Given the description of an element on the screen output the (x, y) to click on. 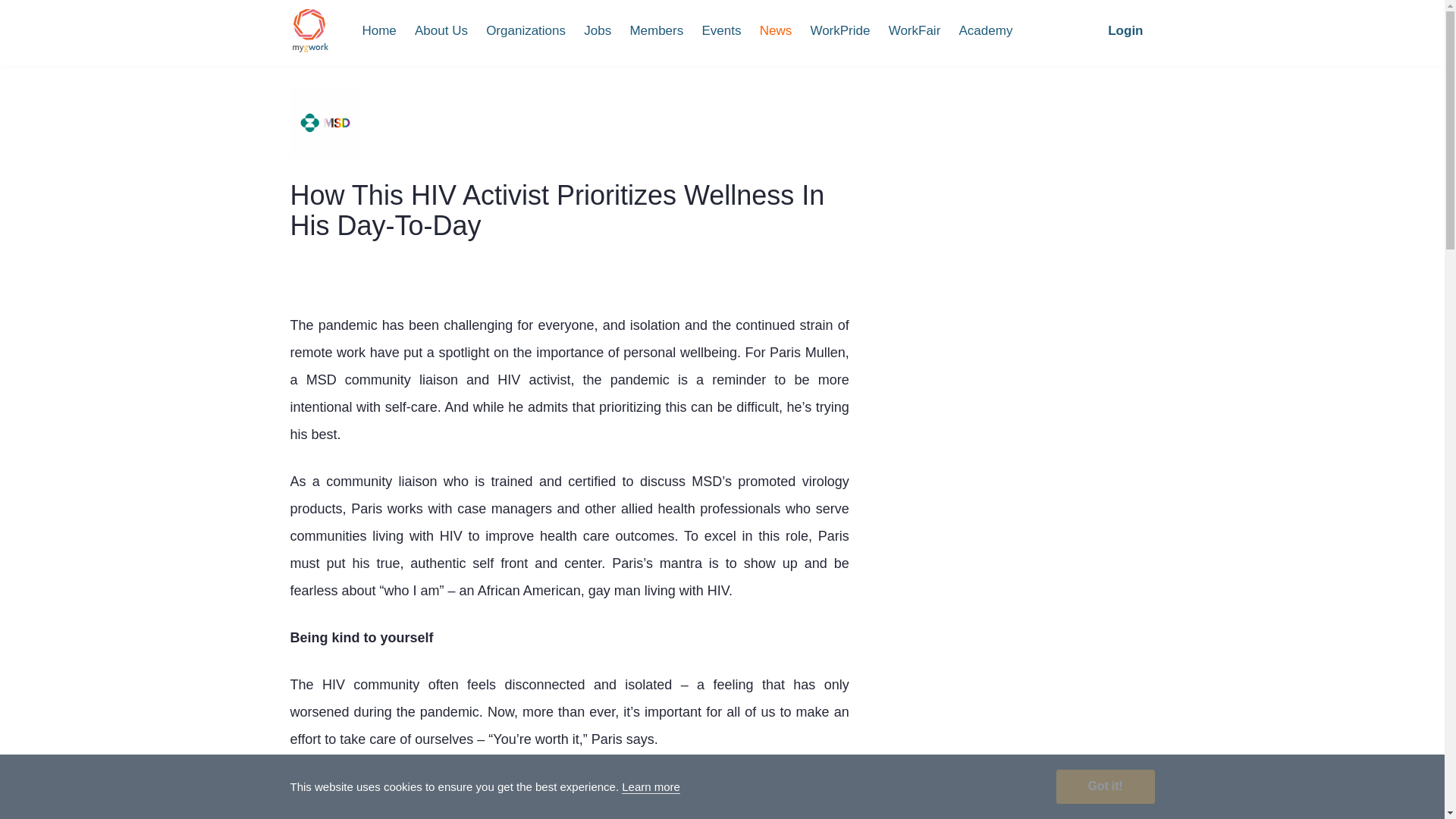
News (775, 30)
Organizations (526, 30)
WorkPride (839, 30)
Academy (986, 30)
WorkFair (914, 30)
Got it! (1104, 786)
Jobs (597, 30)
Events (721, 30)
About Us (441, 30)
Login (1125, 30)
